Given the description of an element on the screen output the (x, y) to click on. 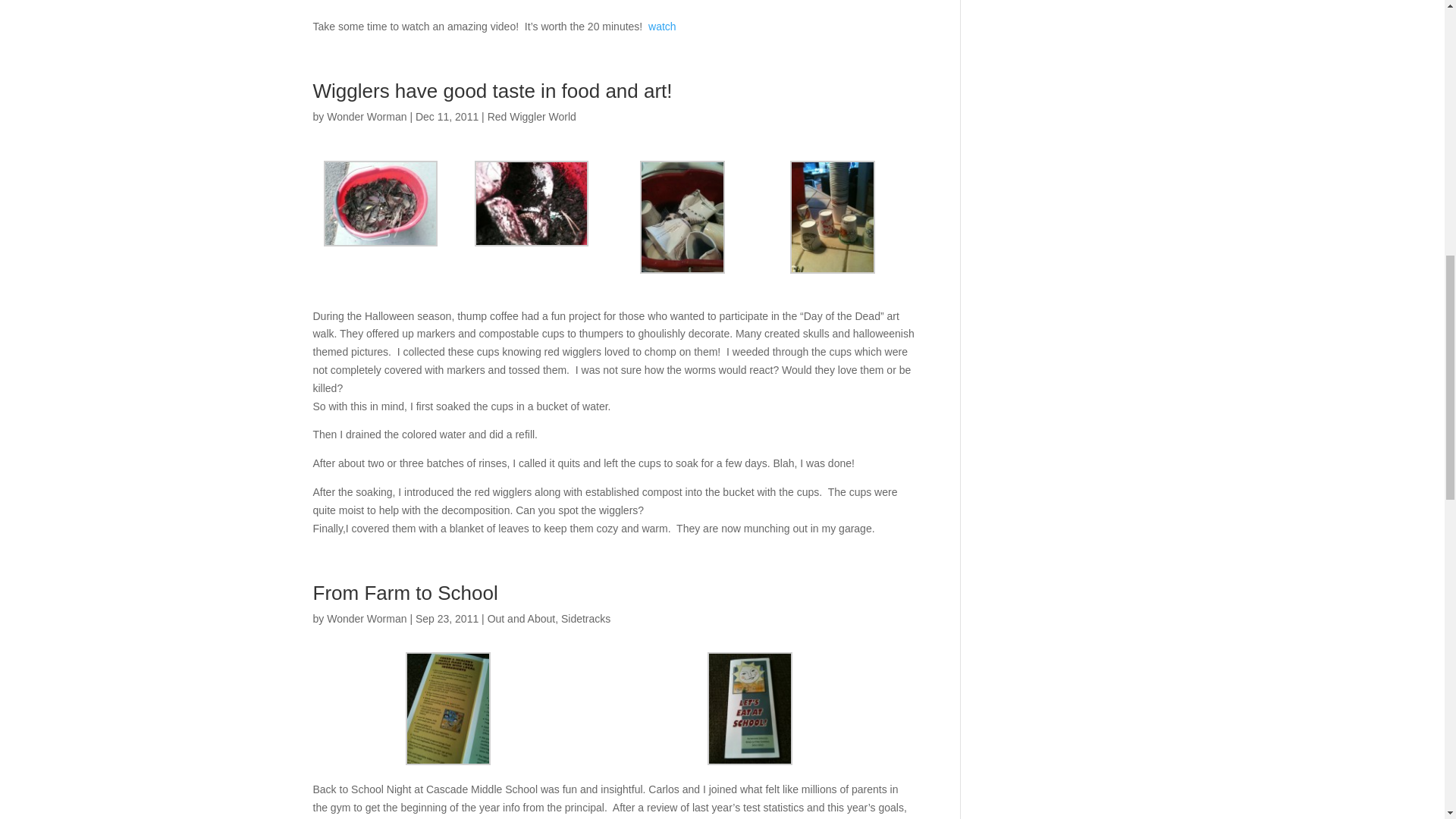
watch (662, 26)
Wigglers have good taste in food and art! (492, 90)
Red Wiggler World (531, 116)
Posts by Wonder Worman (366, 116)
Wonder Worman (366, 116)
Wonder Worman (366, 618)
From Farm to School (405, 592)
Posts by Wonder Worman (366, 618)
